Given the description of an element on the screen output the (x, y) to click on. 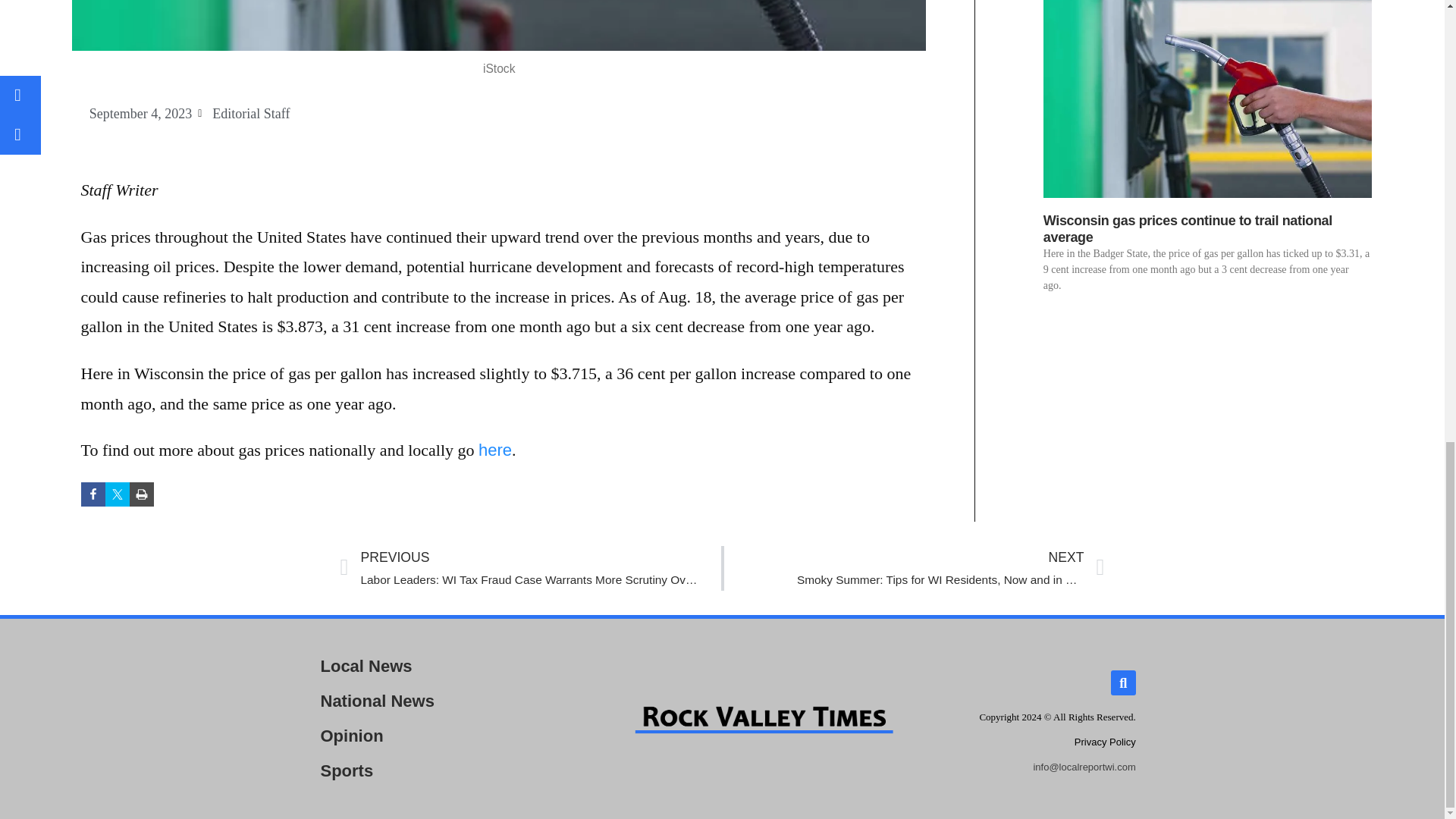
Opinion (438, 736)
National News (438, 701)
Share on Facebook (92, 494)
Print this Page (140, 494)
Local News (438, 666)
Share on Twitter (913, 568)
Sports (116, 494)
Wisconsin gas prices continue to trail national average (438, 770)
Privacy Policy (1187, 228)
here (1104, 741)
